Given the description of an element on the screen output the (x, y) to click on. 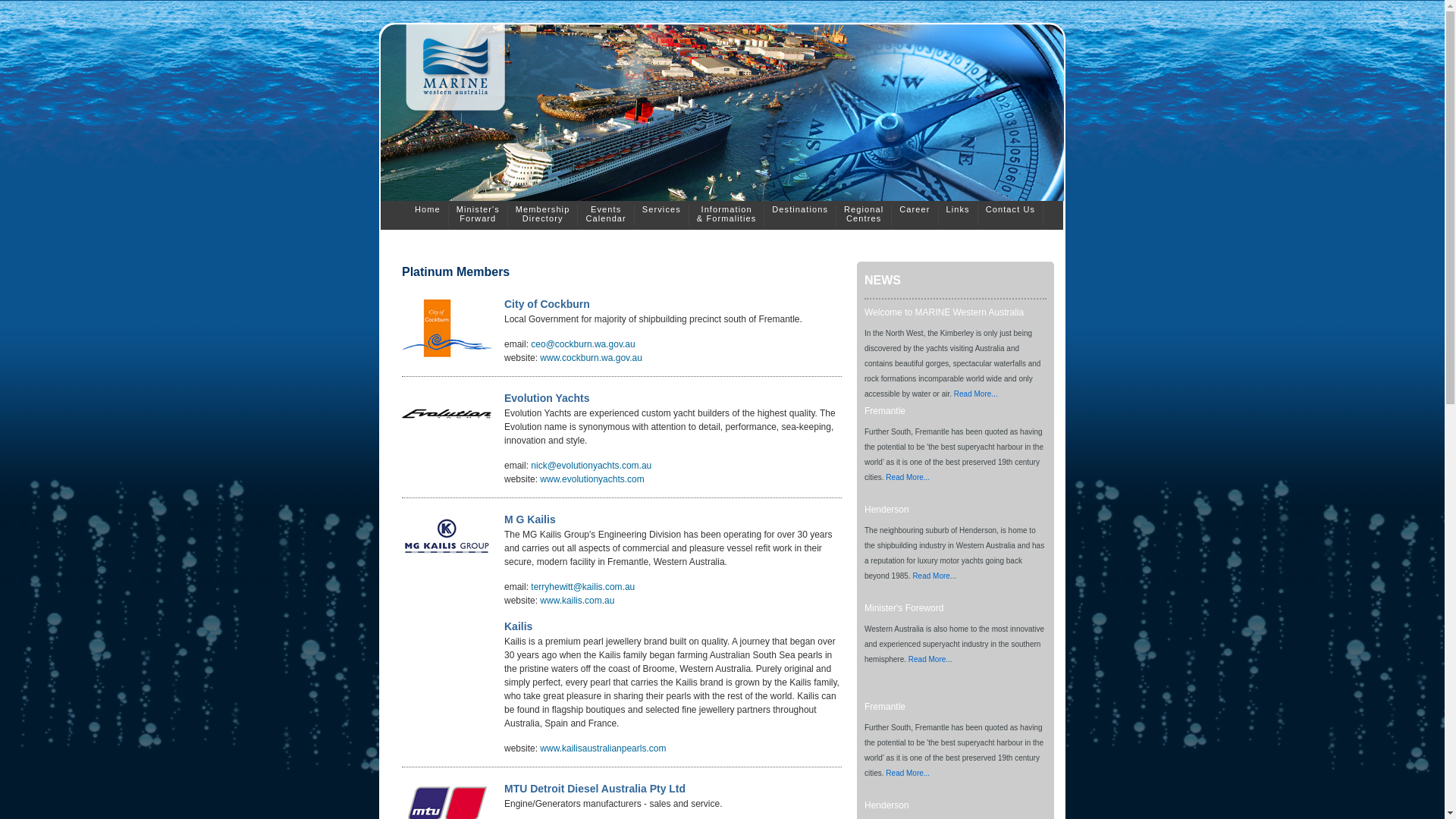
Regional
Centres Element type: text (863, 214)
Destinations Element type: text (799, 214)
Career Element type: text (914, 214)
Minister's Foreword Element type: text (903, 607)
Fremantle Element type: text (884, 410)
Read More... Element type: text (975, 393)
Information
& Formalities Element type: text (726, 214)
Links Element type: text (957, 214)
Read More... Element type: text (930, 659)
Contact Us Element type: text (1010, 214)
Welcome to MARINE Western Australia Element type: text (943, 312)
Home Element type: text (427, 214)
nick@evolutionyachts.com.au Element type: text (590, 465)
Membership
Directory Element type: text (542, 214)
www.kailisaustralianpearls.com Element type: text (602, 748)
Henderson Element type: text (886, 805)
www.kailis.com.au Element type: text (575, 600)
Read More... Element type: text (907, 477)
Read More... Element type: text (934, 575)
Henderson Element type: text (886, 509)
ceo@cockburn.wa.gov.au Element type: text (582, 343)
Read More... Element type: text (907, 772)
Events
Calendar Element type: text (605, 214)
Services Element type: text (661, 214)
www.cockburn.wa.gov.au Element type: text (589, 357)
terryhewitt@kailis.com.au Element type: text (582, 586)
www.evolutionyachts.com Element type: text (590, 478)
Fremantle Element type: text (884, 706)
Minister's
Forward Element type: text (477, 214)
